Given the description of an element on the screen output the (x, y) to click on. 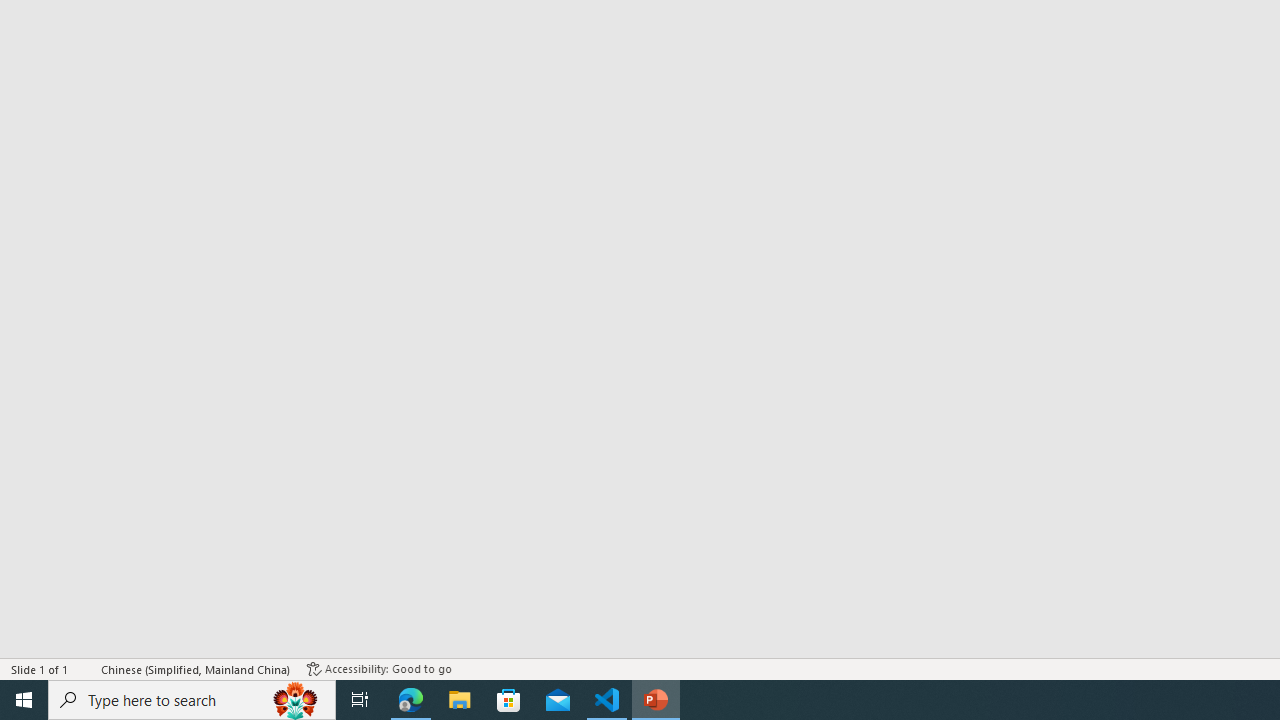
Spell Check  (86, 668)
Accessibility Checker Accessibility: Good to go (379, 668)
